Given the description of an element on the screen output the (x, y) to click on. 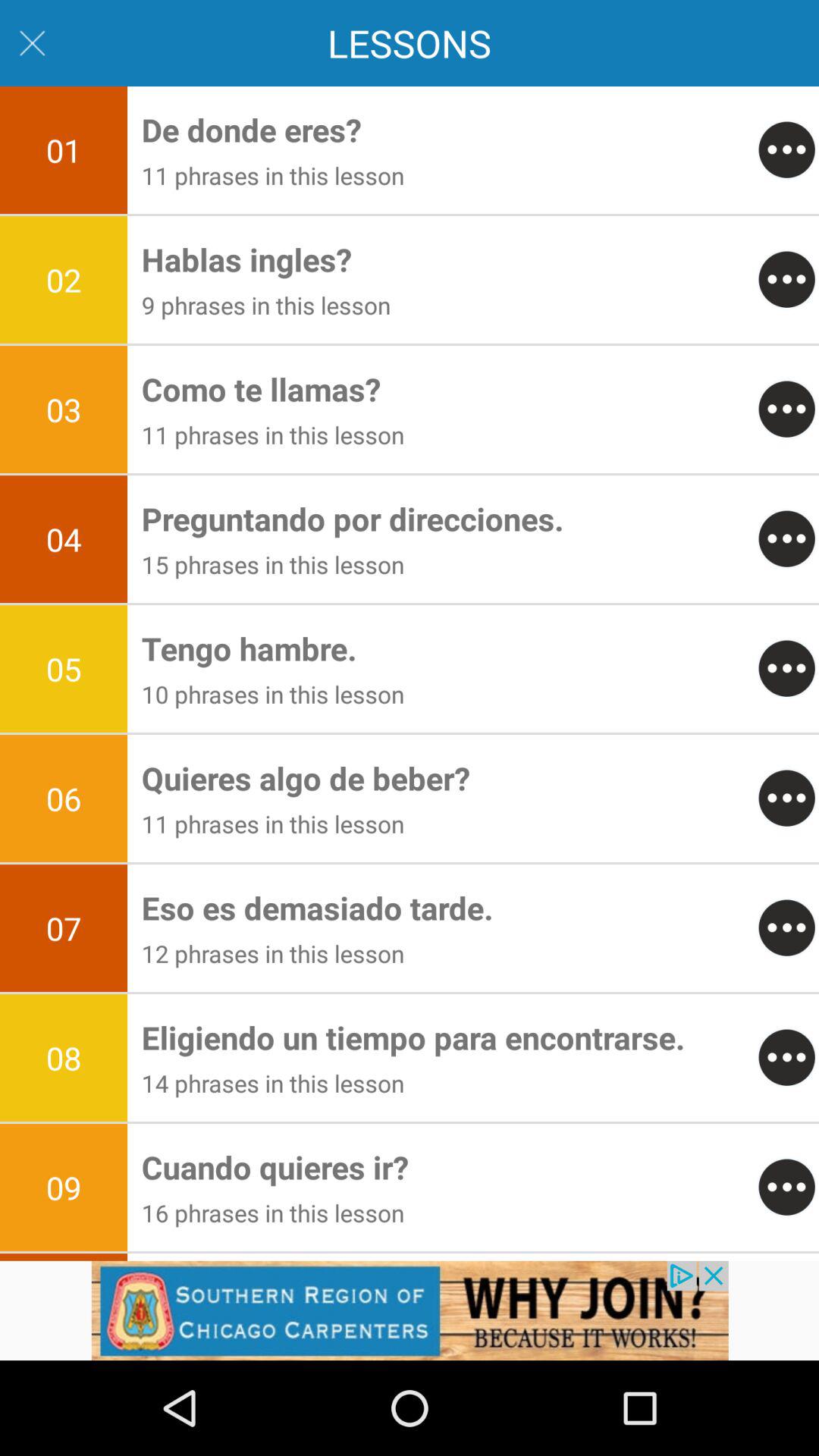
close (32, 43)
